Given the description of an element on the screen output the (x, y) to click on. 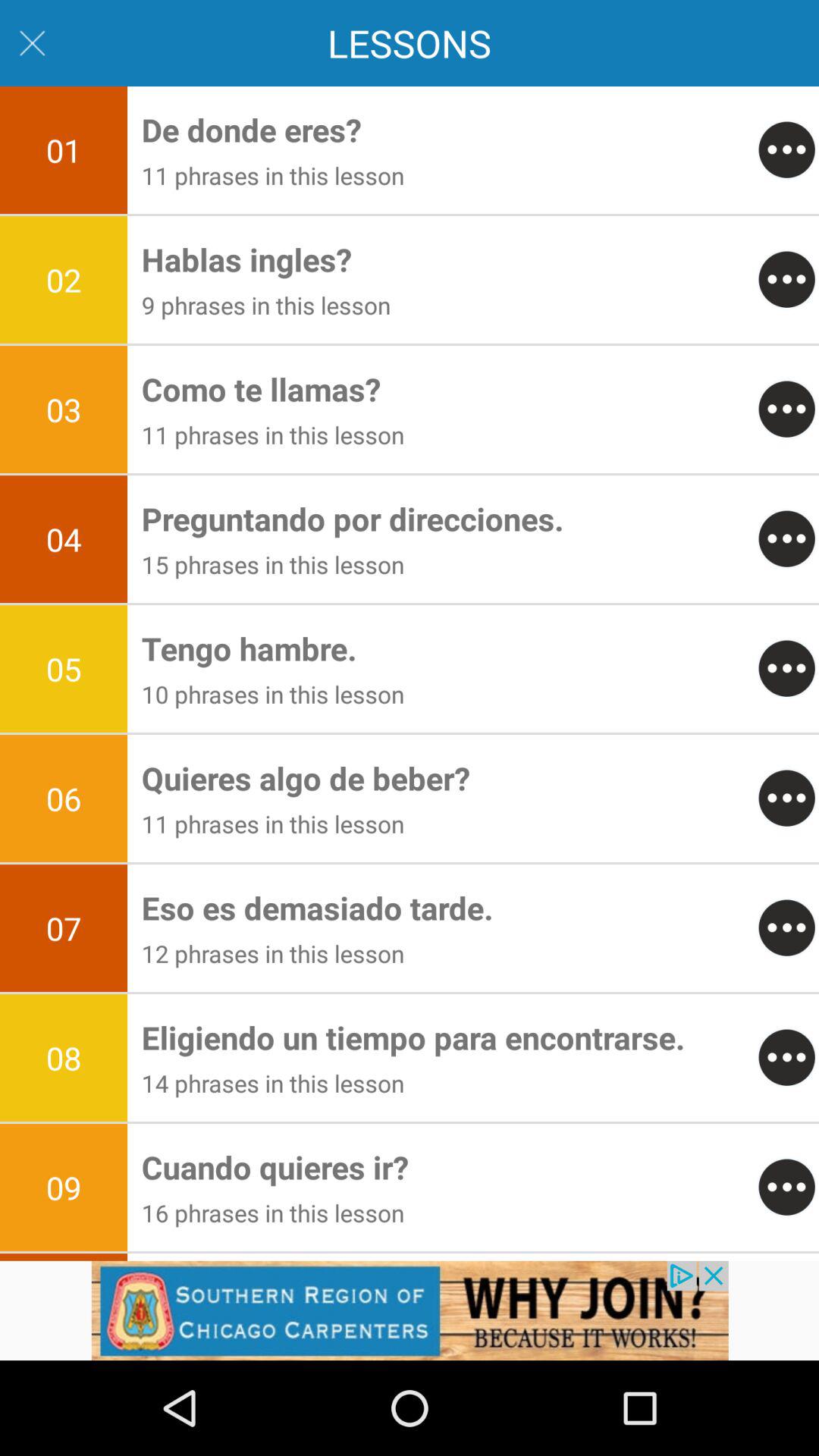
close (32, 43)
